Given the description of an element on the screen output the (x, y) to click on. 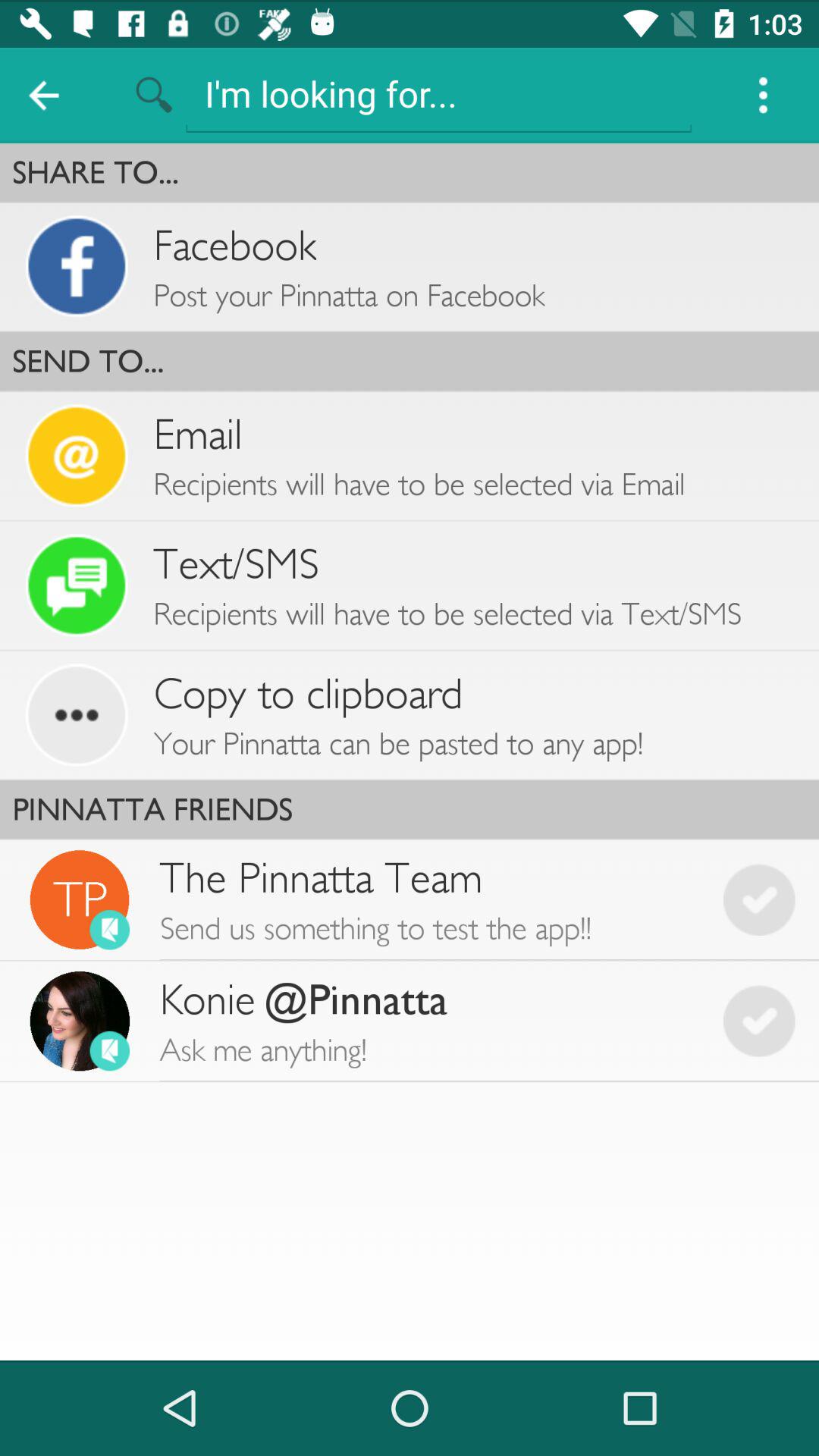
scroll until the the pinnatta team (429, 899)
